Given the description of an element on the screen output the (x, y) to click on. 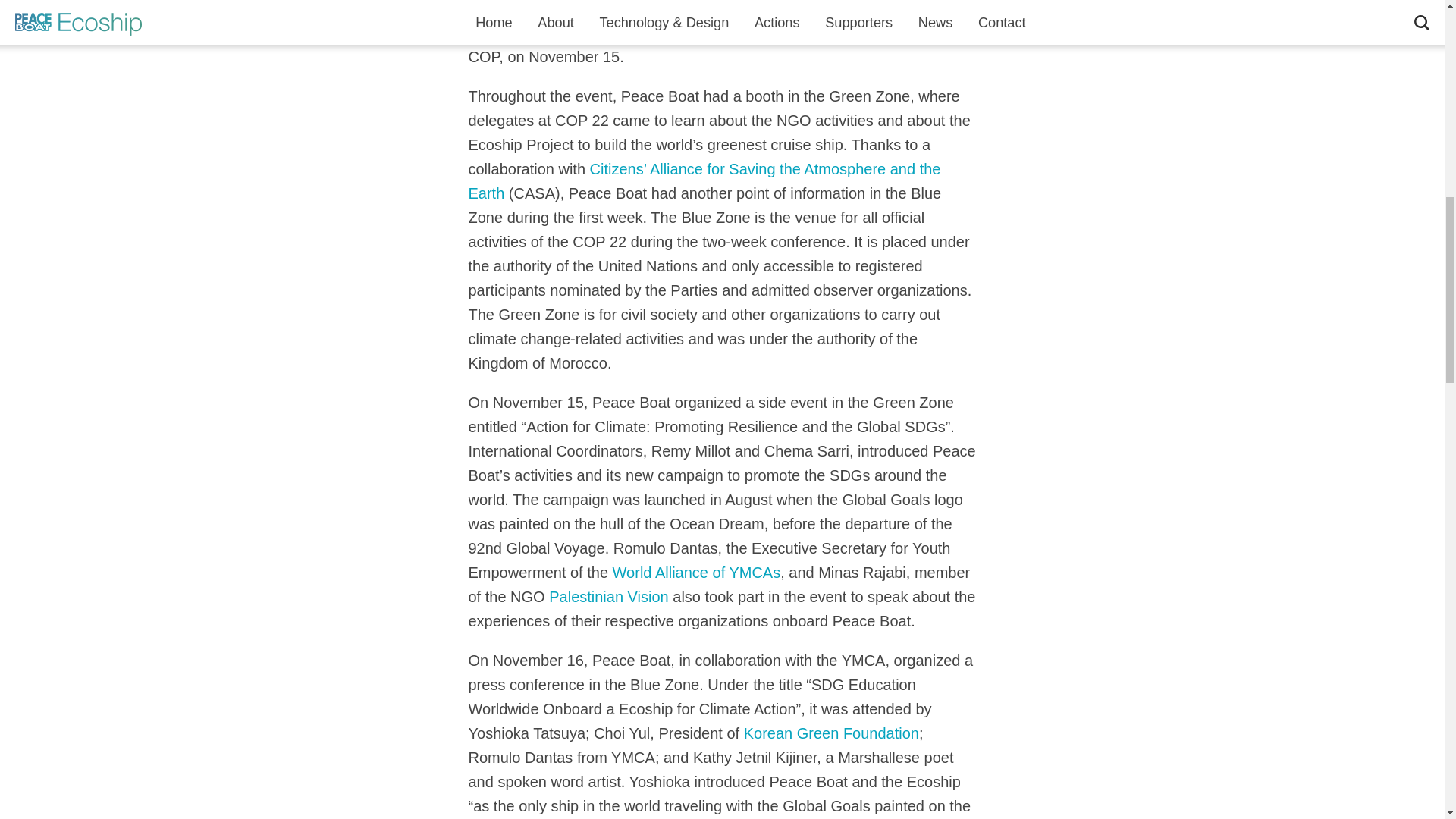
7th Sustainable Innovation Forum (688, 20)
Palestinian Vision (608, 596)
Korean Green Foundation (831, 733)
World Alliance of YMCAs (696, 572)
